Given the description of an element on the screen output the (x, y) to click on. 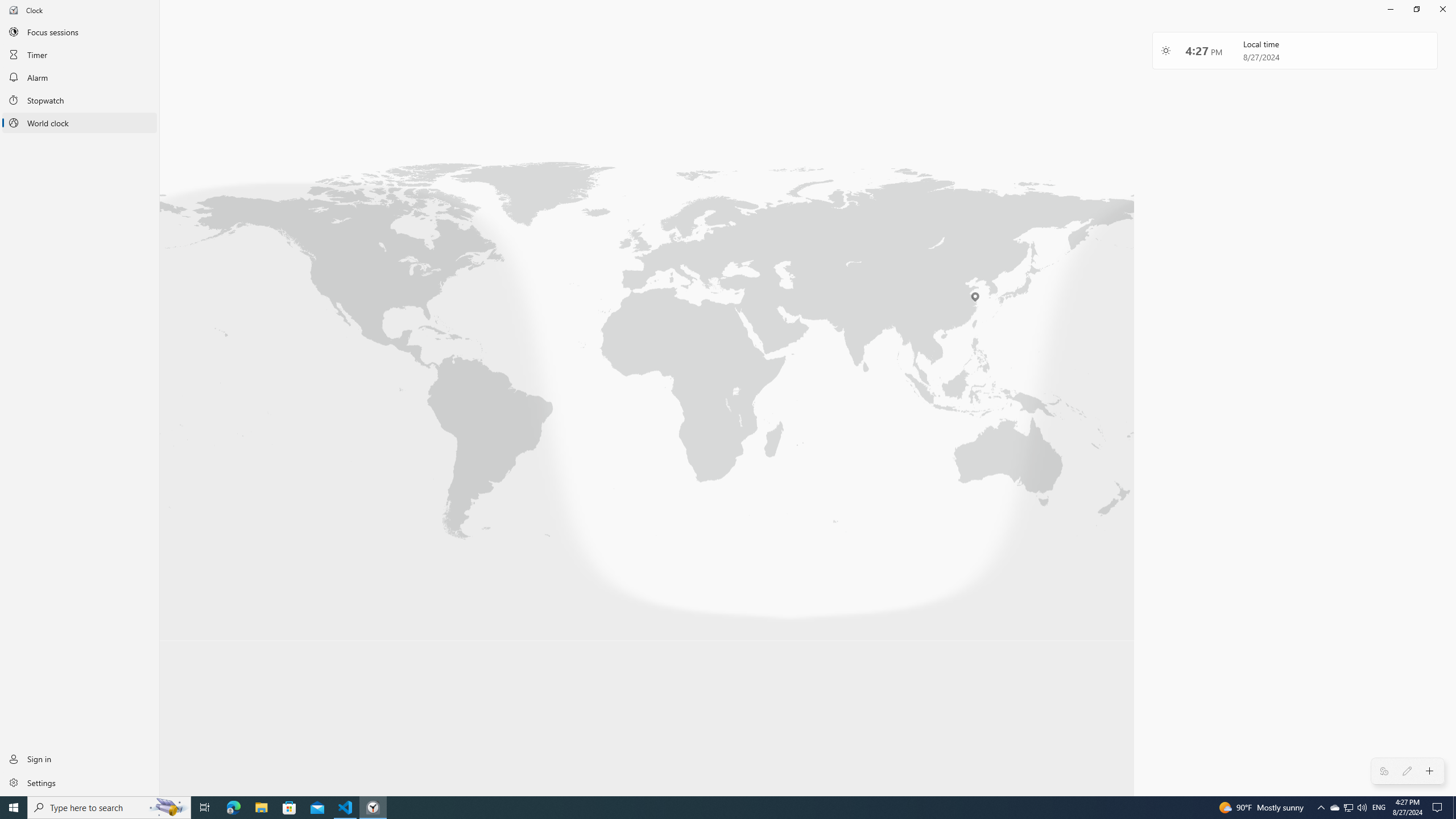
Timer (79, 54)
Stopwatch (79, 100)
